Given the description of an element on the screen output the (x, y) to click on. 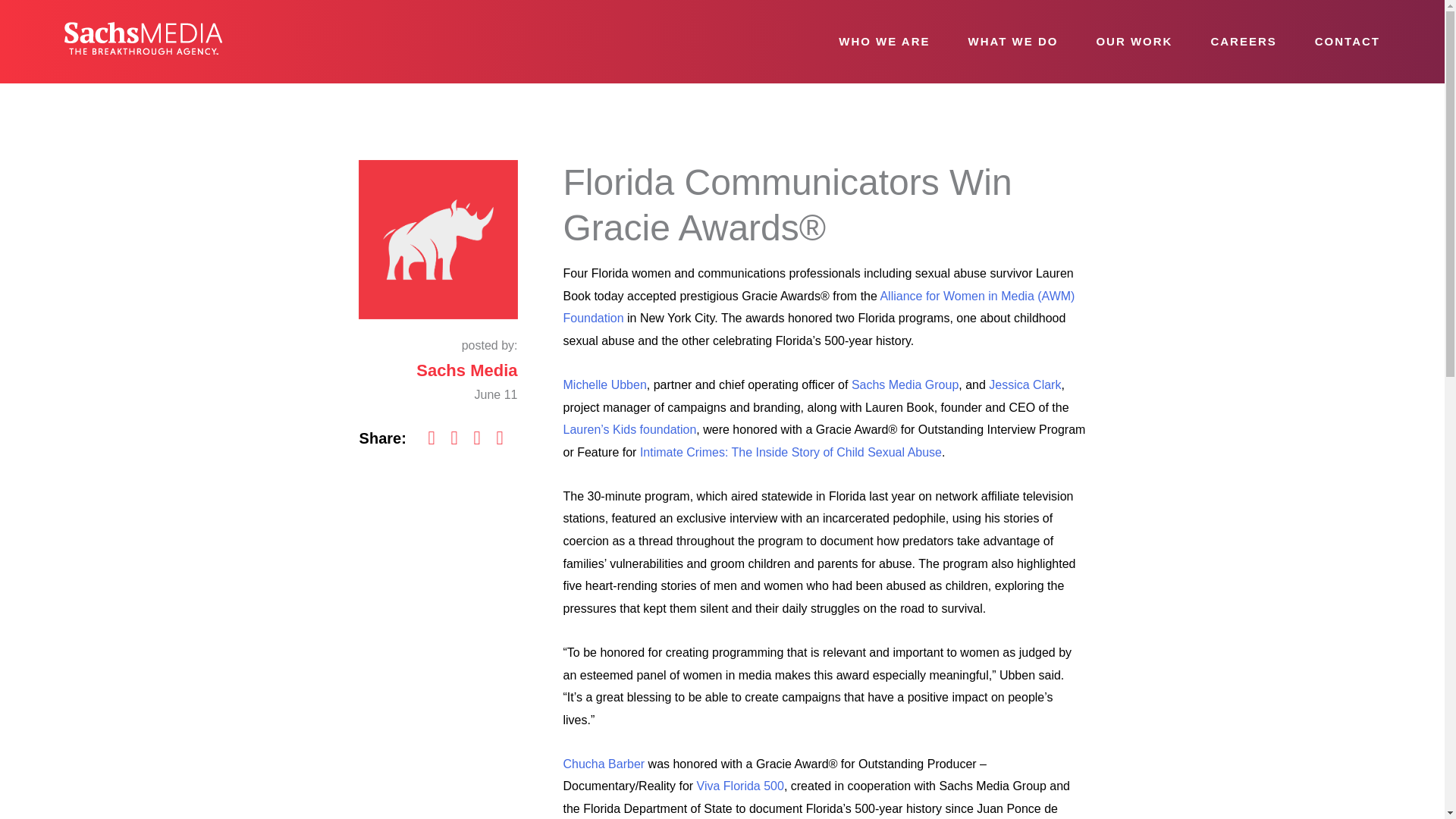
Jessica Clark (1024, 384)
Sachs Media Group (904, 384)
WHO WE ARE (884, 41)
Intimate Crimes: The Inside Story of Child Sexual Abuse (791, 451)
CAREERS (1243, 41)
Viva Florida 500 (740, 785)
WHAT WE DO (1013, 41)
OUR WORK (1134, 41)
CONTACT (1347, 41)
Michelle Ubben (604, 384)
